Given the description of an element on the screen output the (x, y) to click on. 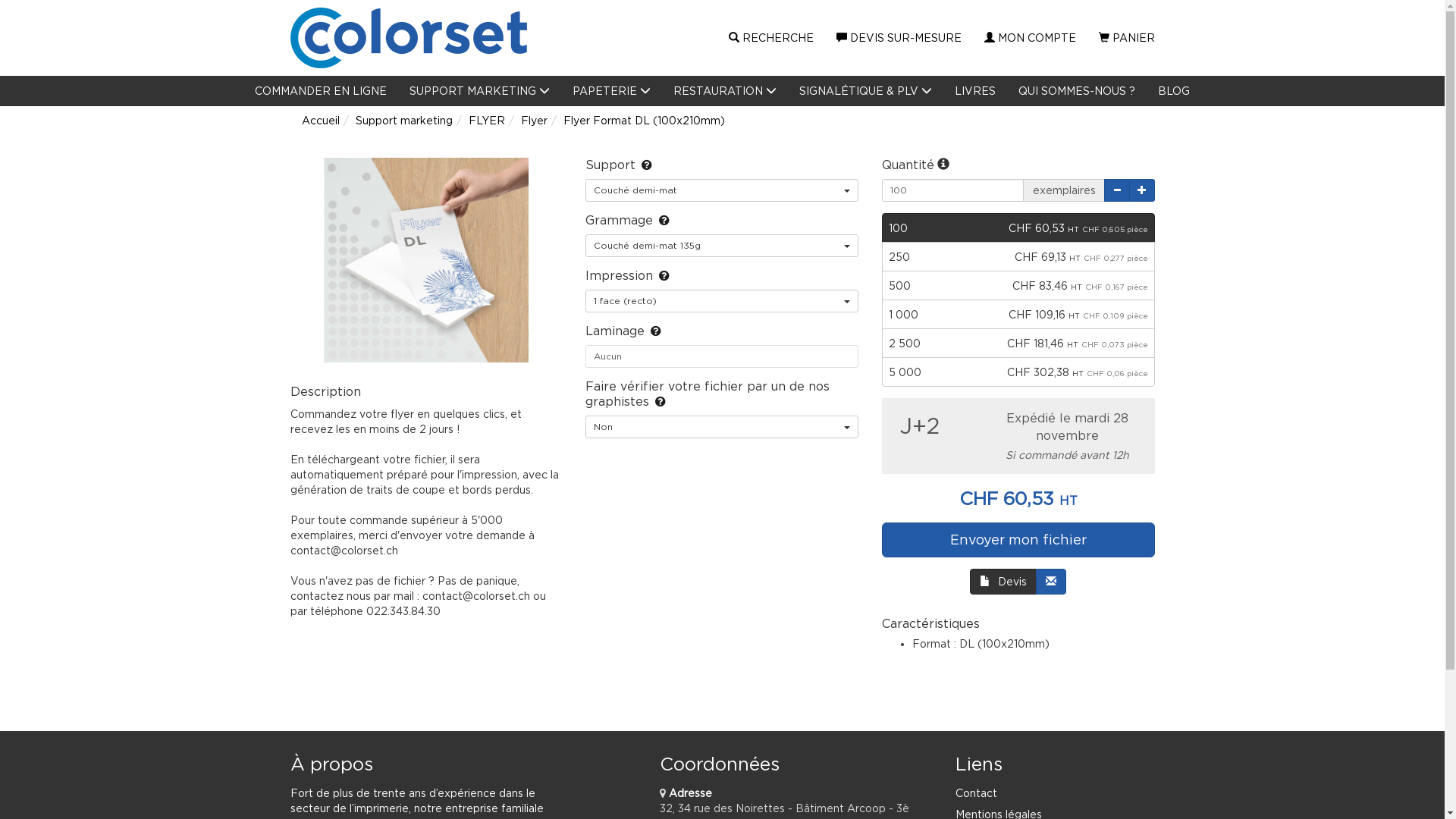
PAPETERIE Element type: text (611, 90)
Flyer Element type: text (533, 119)
Aucun Element type: text (721, 356)
QUI SOMMES-NOUS ? Element type: text (1076, 90)
SUPPORT MARKETING Element type: text (479, 90)
BLOG Element type: text (1173, 90)
LIVRES Element type: text (975, 90)
COMMANDER EN LIGNE Element type: text (320, 90)
RECHERCHE Element type: text (770, 37)
Envoyer mon fichier Element type: text (1017, 539)
Support marketing Element type: text (402, 119)
Accueil Element type: text (320, 119)
Flyer Format DL (100x210mm) Element type: text (643, 119)
DEVIS SUR-MESURE Element type: text (898, 37)
RESTAURATION Element type: text (724, 90)
PANIER Element type: text (1126, 37)
Non Element type: text (721, 426)
1 face (recto) Element type: text (721, 300)
Devis Element type: text (1002, 581)
Contact Element type: text (976, 792)
MON COMPTE Element type: text (1029, 37)
FLYER Element type: text (486, 119)
